Given the description of an element on the screen output the (x, y) to click on. 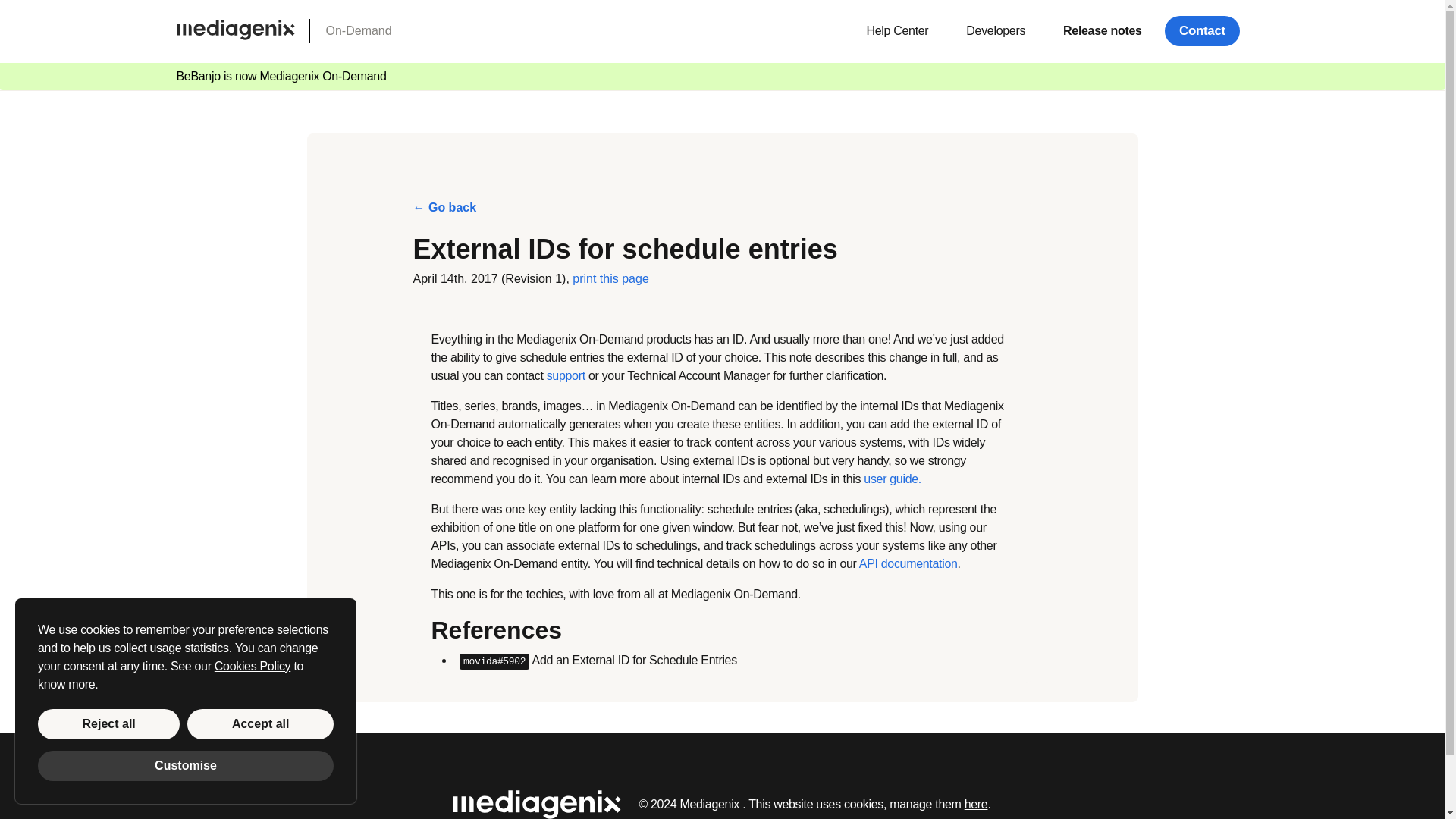
user guide. (892, 478)
Accept all (260, 724)
Release notes (1102, 31)
Help Center (896, 31)
API documentation (908, 563)
Customise (185, 766)
support (566, 375)
here (975, 803)
Contact (1202, 30)
